Given the description of an element on the screen output the (x, y) to click on. 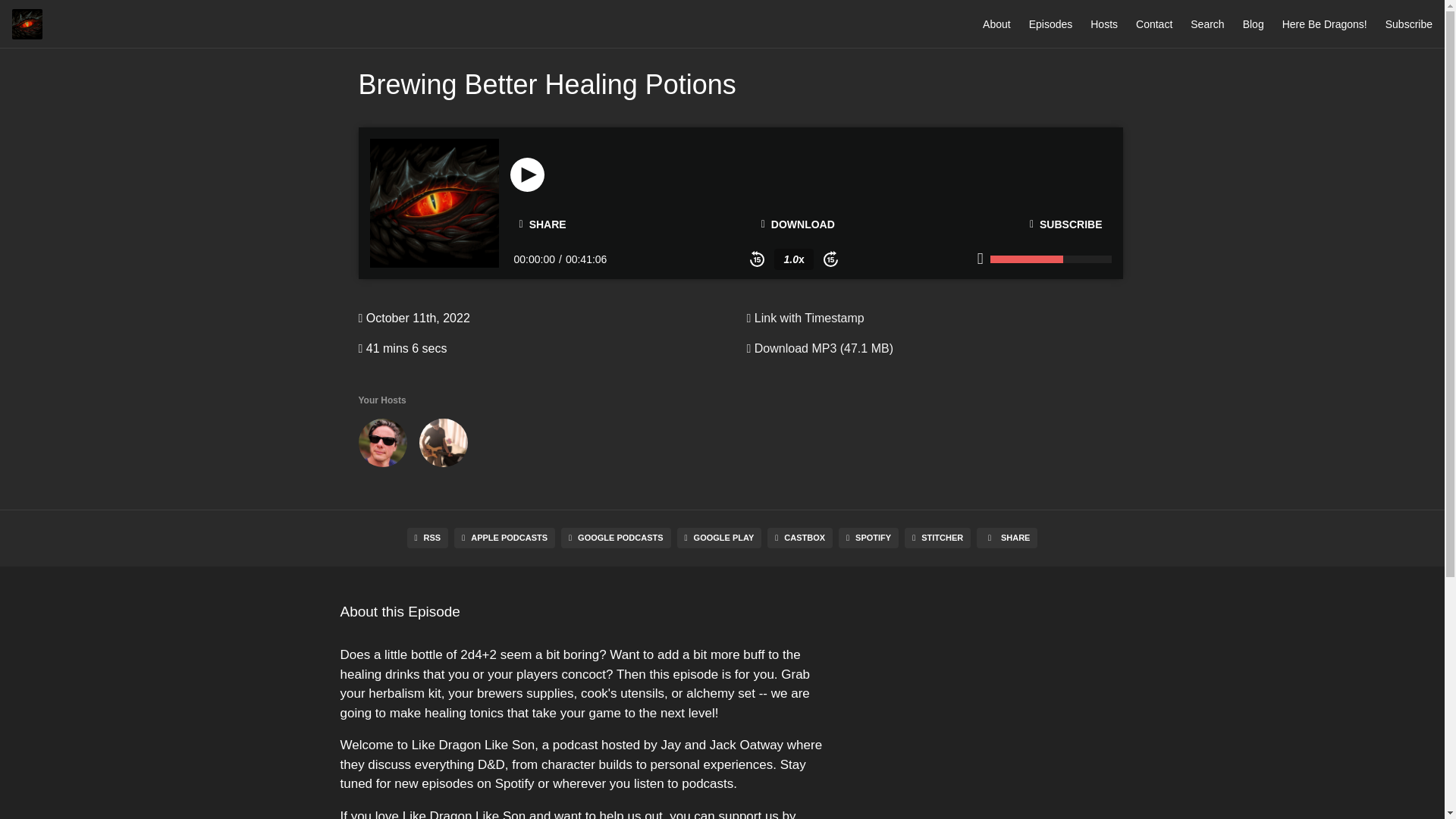
SUBSCRIBE (1066, 224)
Jay (382, 445)
APPLE PODCASTS (504, 537)
CASTBOX (799, 537)
Search (1207, 24)
SPOTIFY (868, 537)
GOOGLE PLAY (719, 537)
Hosts (1104, 24)
About (996, 24)
Link with Timestamp (804, 318)
1.0x (793, 259)
SHARE (542, 224)
DOWNLOAD (798, 224)
STITCHER (937, 537)
Blog (1253, 24)
